Given the description of an element on the screen output the (x, y) to click on. 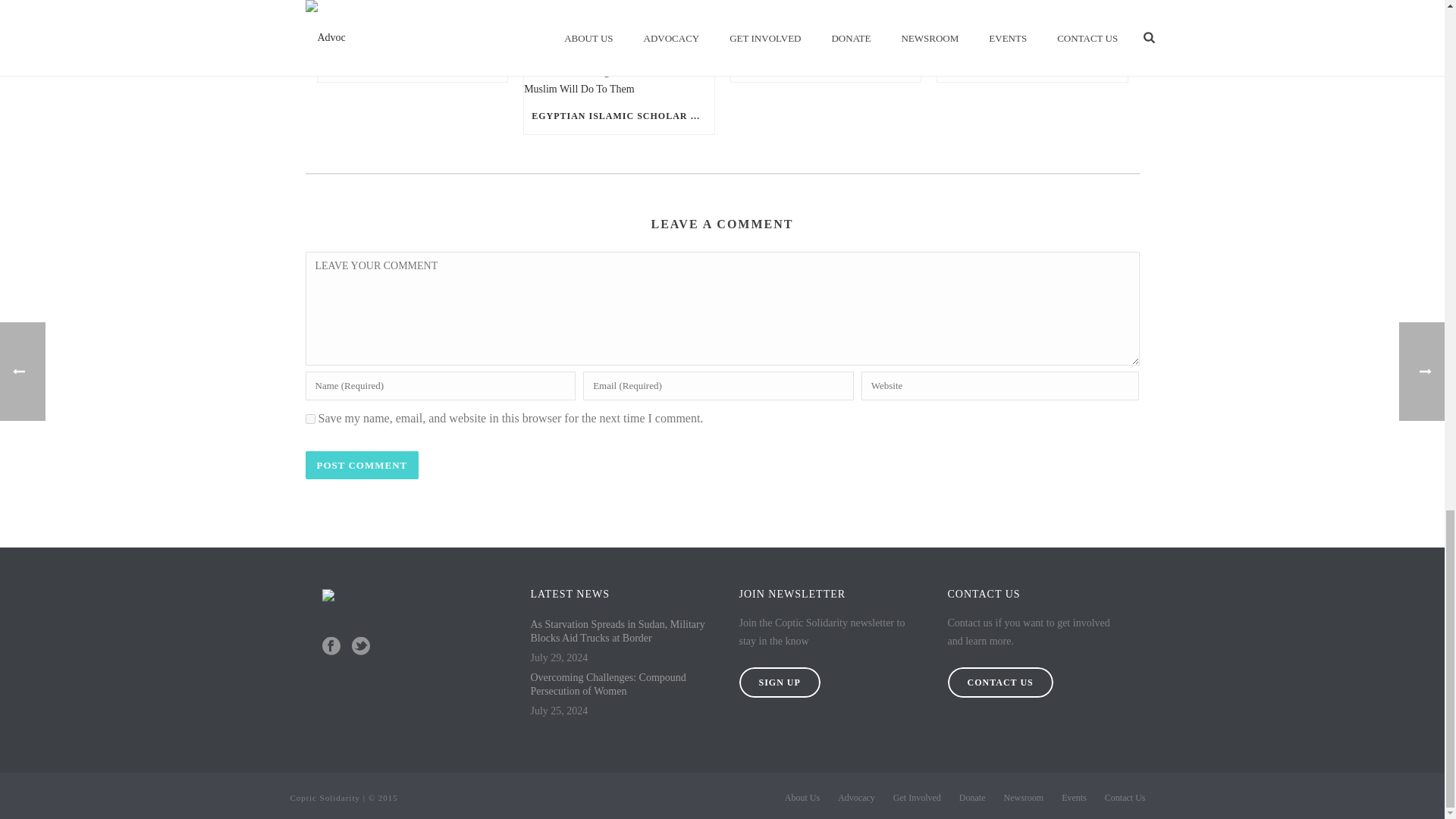
POST COMMENT (361, 465)
 facebook (330, 647)
 twitter (360, 647)
yes (309, 419)
How a Fiercely Christian Nation Became Fanatically Islamic (1031, 27)
CONTACT US (999, 682)
SIGN UP (778, 682)
